Given the description of an element on the screen output the (x, y) to click on. 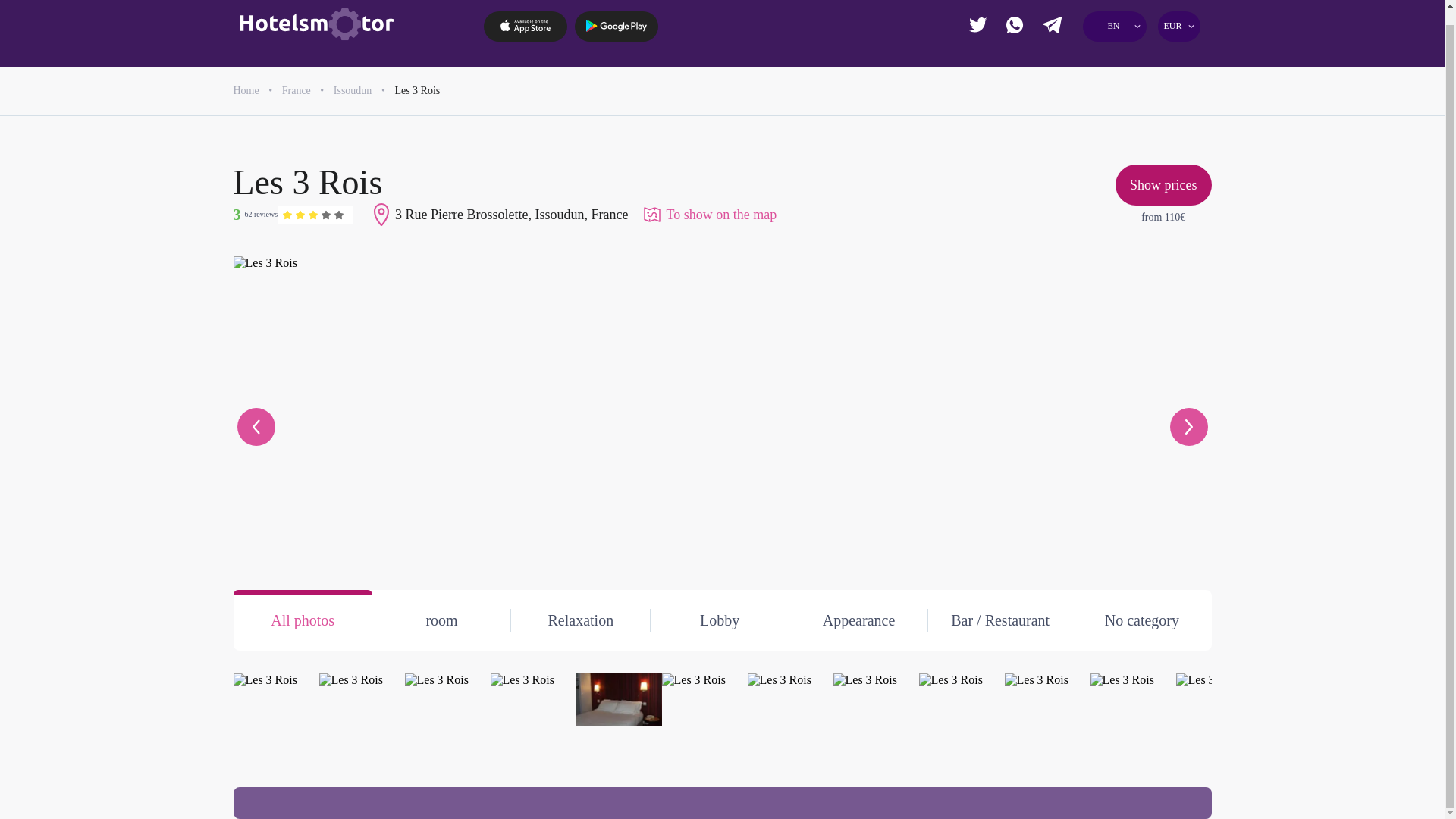
usd (1055, 173)
ron (1110, 117)
eur (1055, 61)
gbp (1110, 61)
pln (1055, 117)
try (1165, 146)
rub (1165, 117)
krw (1055, 146)
sek (1110, 146)
jpy (1110, 90)
